Given the description of an element on the screen output the (x, y) to click on. 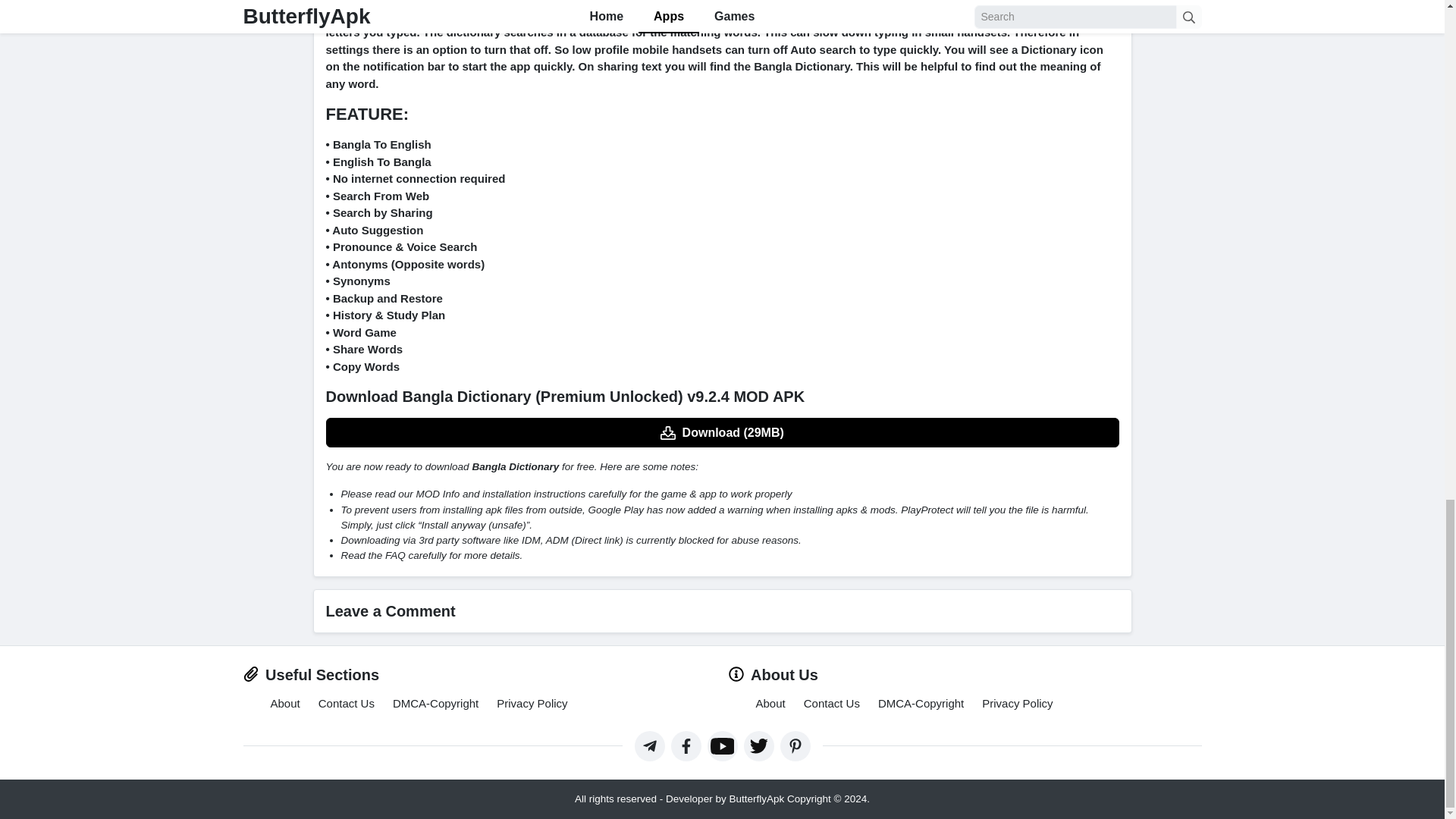
Privacy Policy (531, 703)
Contact Us (346, 703)
Contact Us (831, 703)
About (769, 703)
Privacy Policy (1016, 703)
DMCA-Copyright (920, 703)
DMCA-Copyright (436, 703)
About (284, 703)
